Given the description of an element on the screen output the (x, y) to click on. 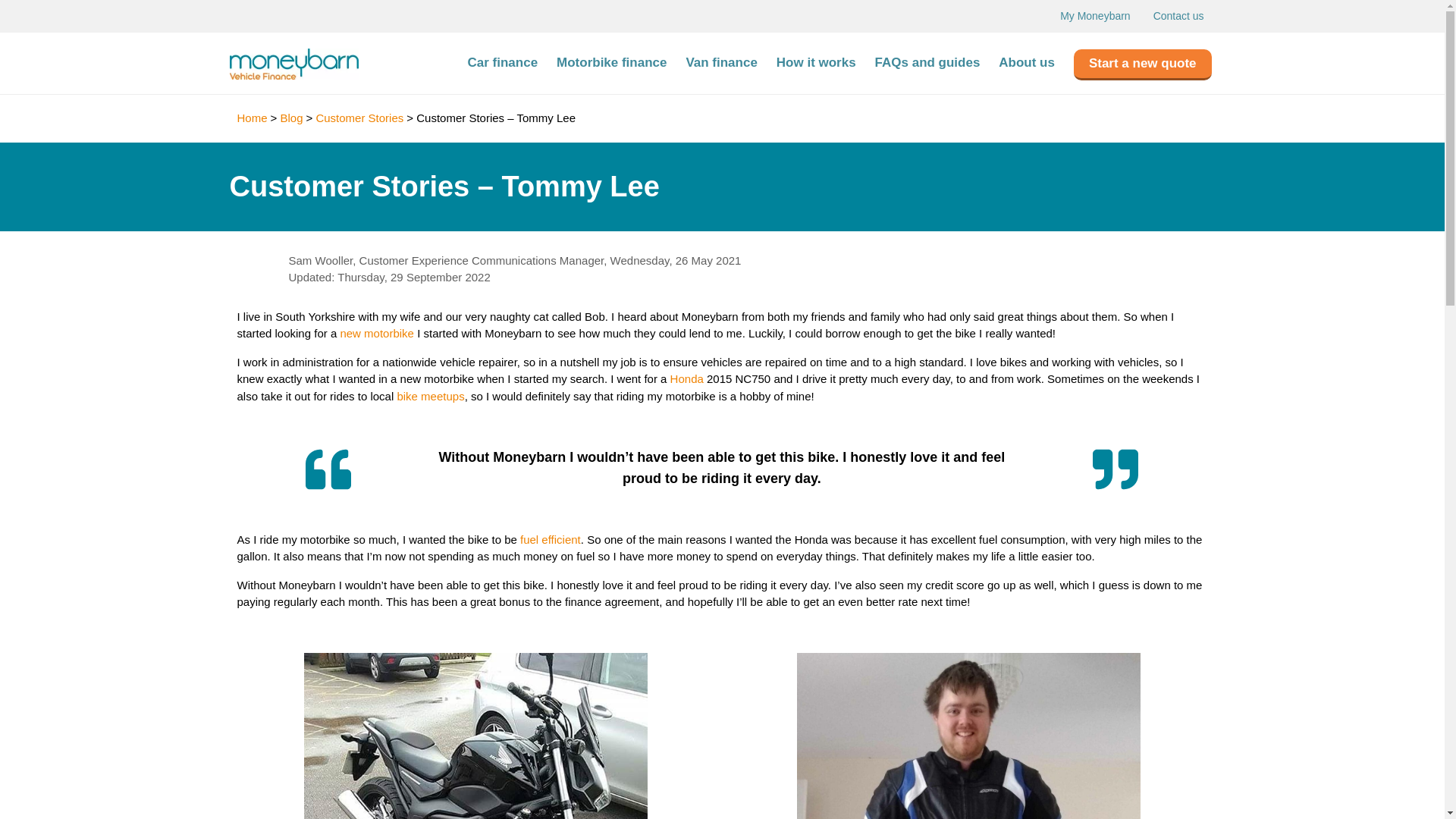
Car finance (502, 63)
Contact us (1178, 16)
FAQs and guides (927, 63)
Motorbike finance (611, 63)
Van finance (721, 63)
How it works (816, 63)
My Moneybarn (1095, 16)
